Given the description of an element on the screen output the (x, y) to click on. 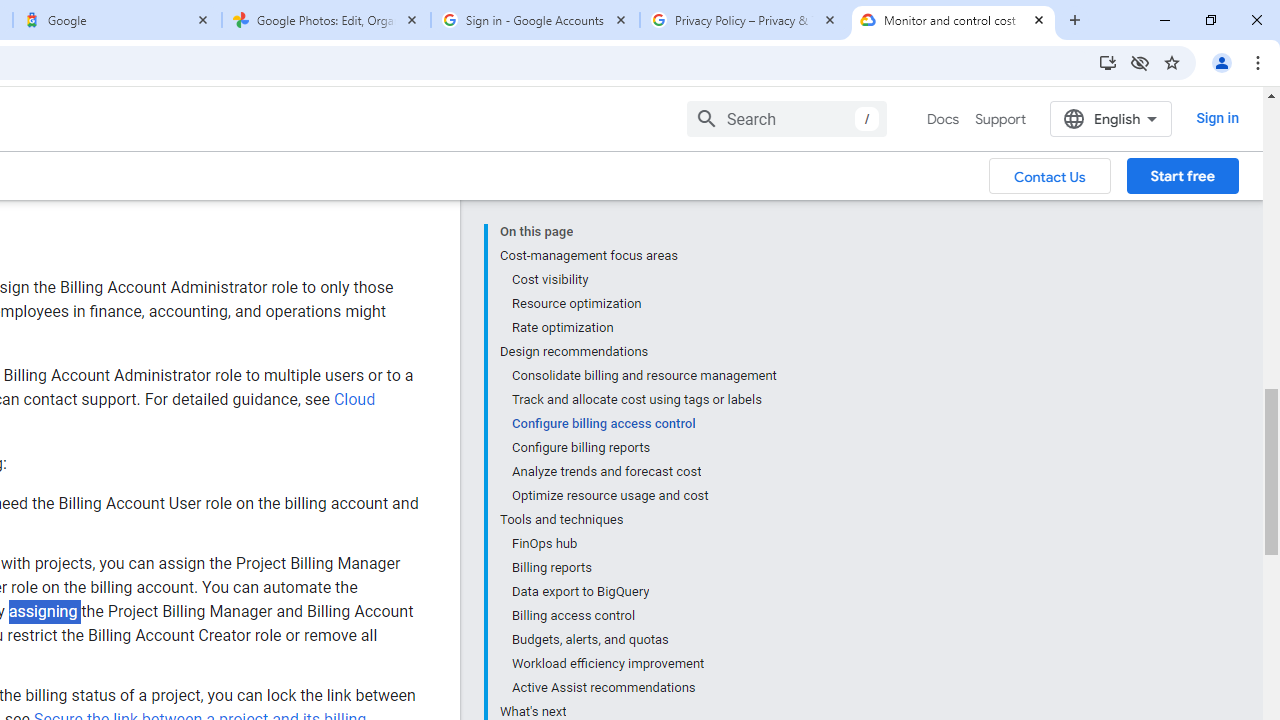
Google (116, 20)
Contact Us (1050, 89)
Sign in - Google Accounts (535, 20)
Track and allocate cost using tags or labels (643, 312)
Search (786, 31)
Support (1000, 32)
Billing access control (643, 528)
